Given the description of an element on the screen output the (x, y) to click on. 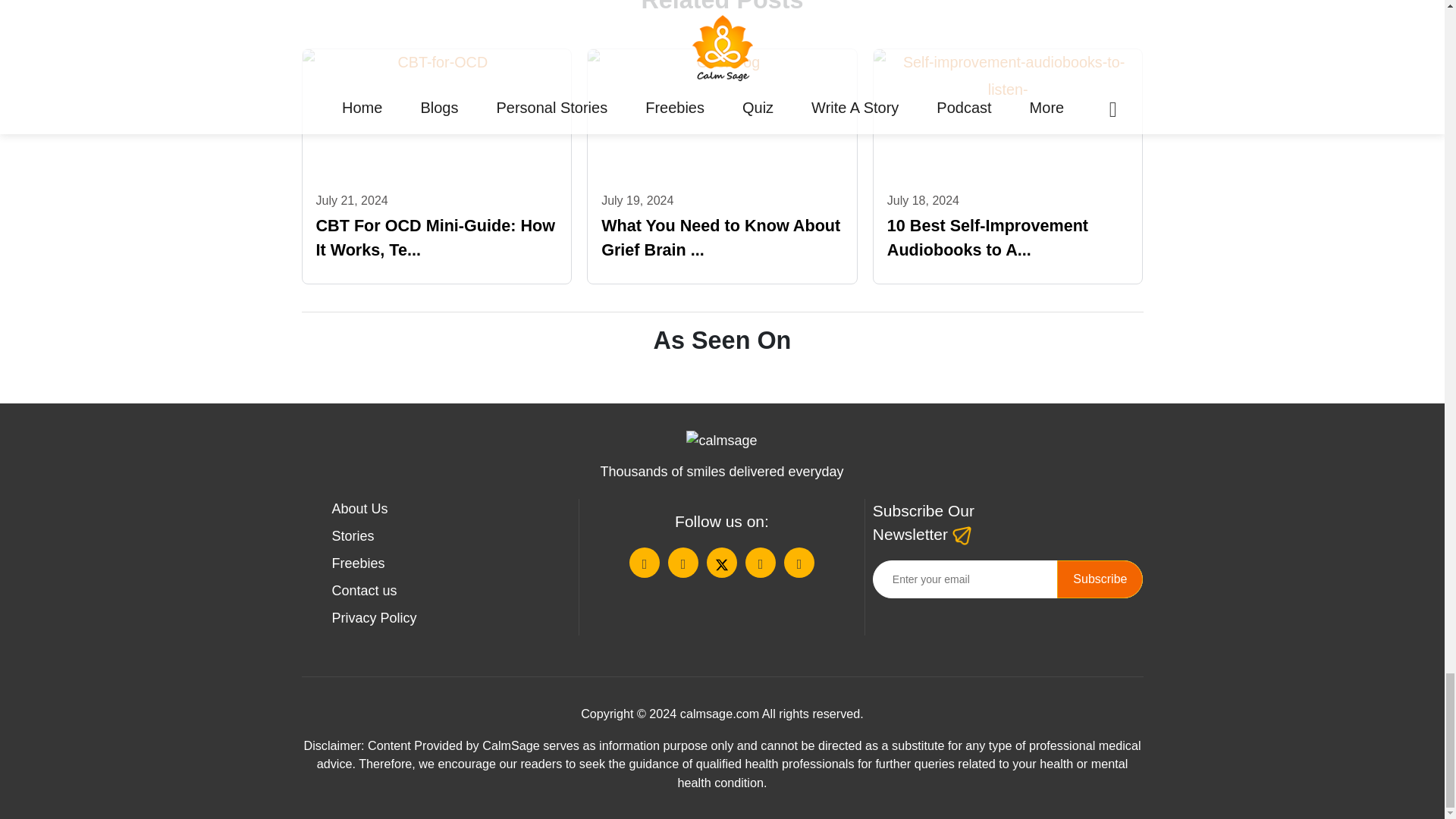
Subscribe (1099, 579)
